Given the description of an element on the screen output the (x, y) to click on. 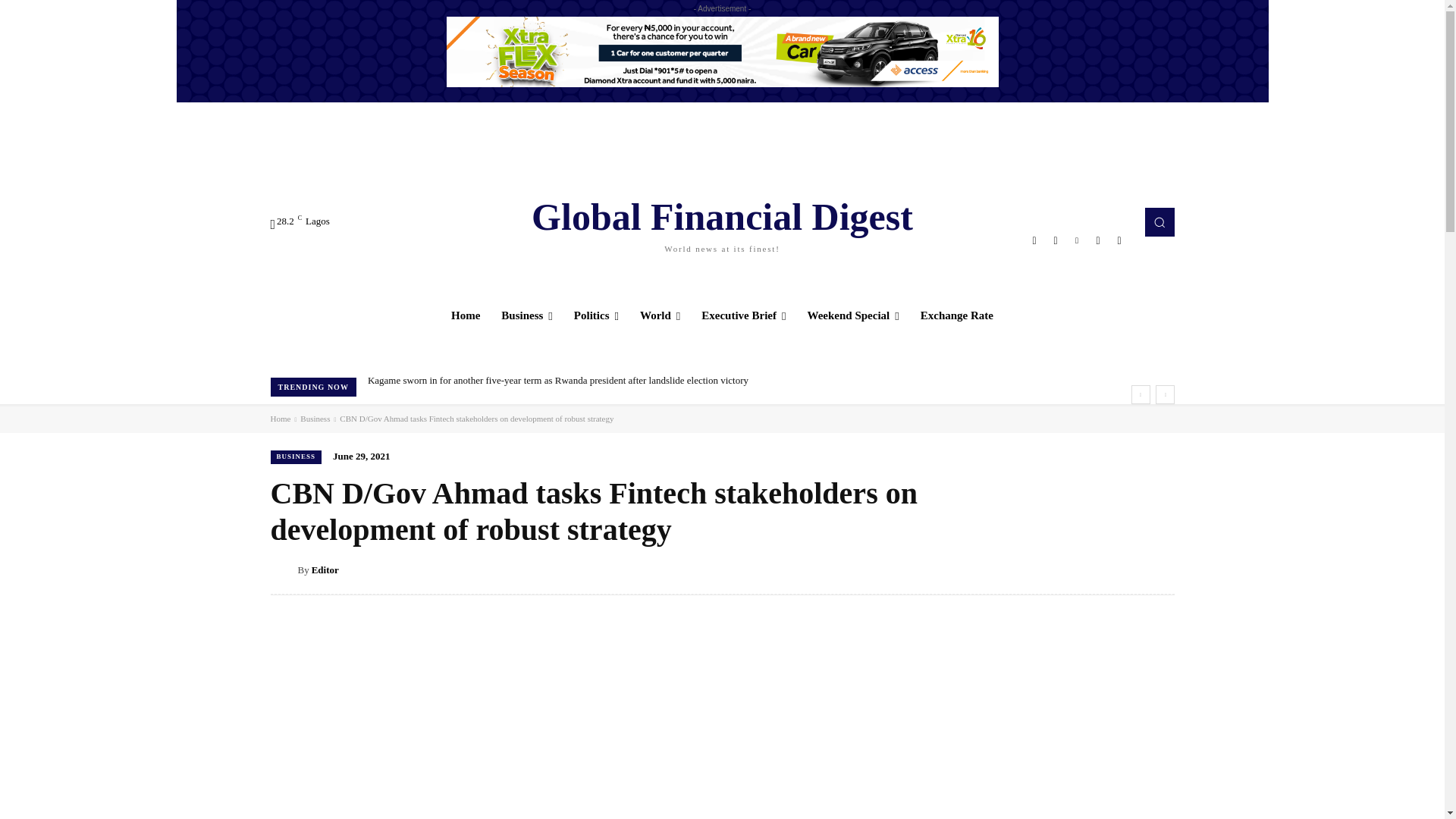
Linkedin (1076, 240)
Twitter (1097, 240)
Instagram (1055, 240)
Facebook (722, 221)
Business (1034, 240)
Home (526, 315)
Youtube (465, 315)
